Given the description of an element on the screen output the (x, y) to click on. 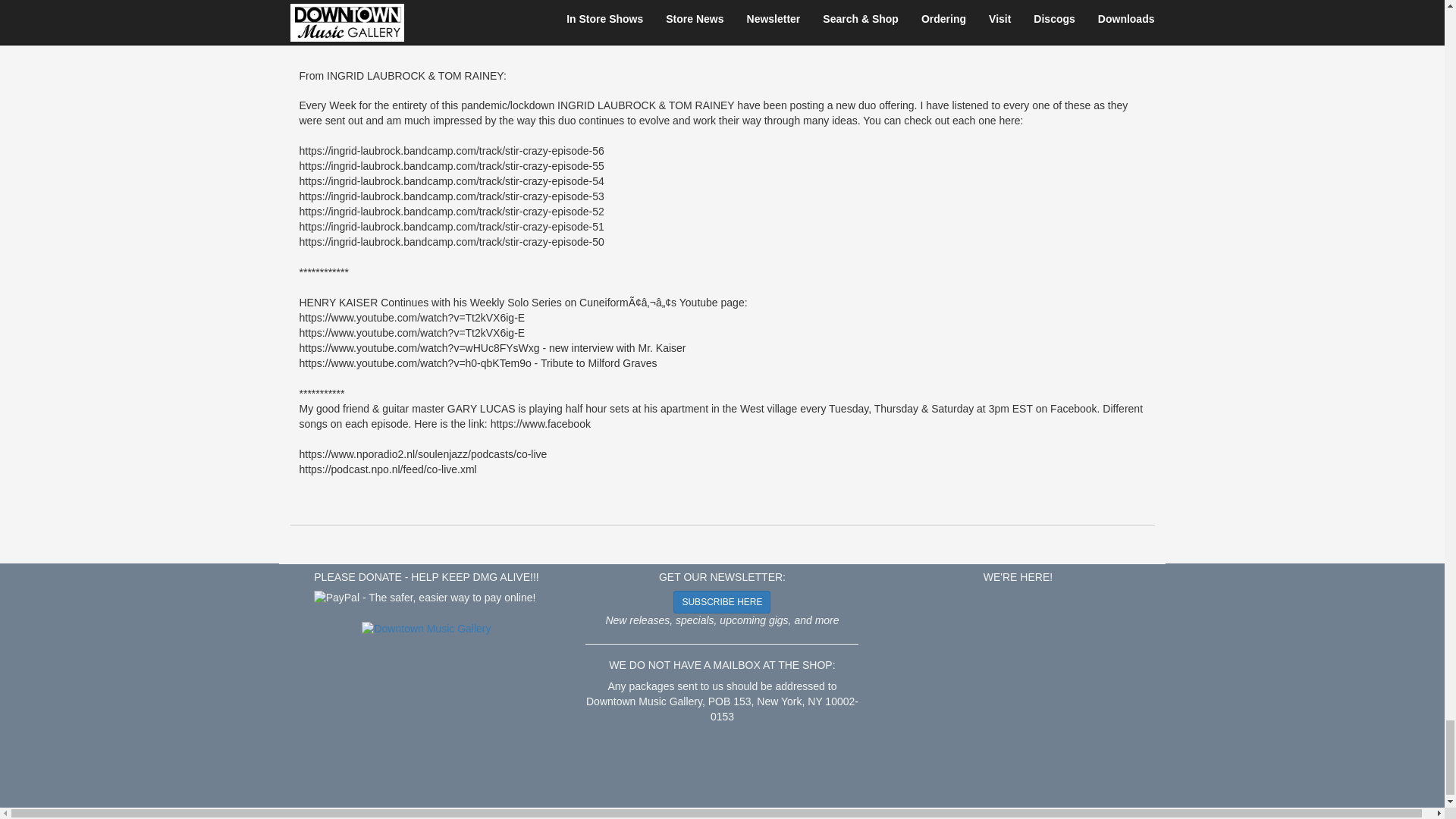
SUBSCRIBE HERE (721, 601)
